Given the description of an element on the screen output the (x, y) to click on. 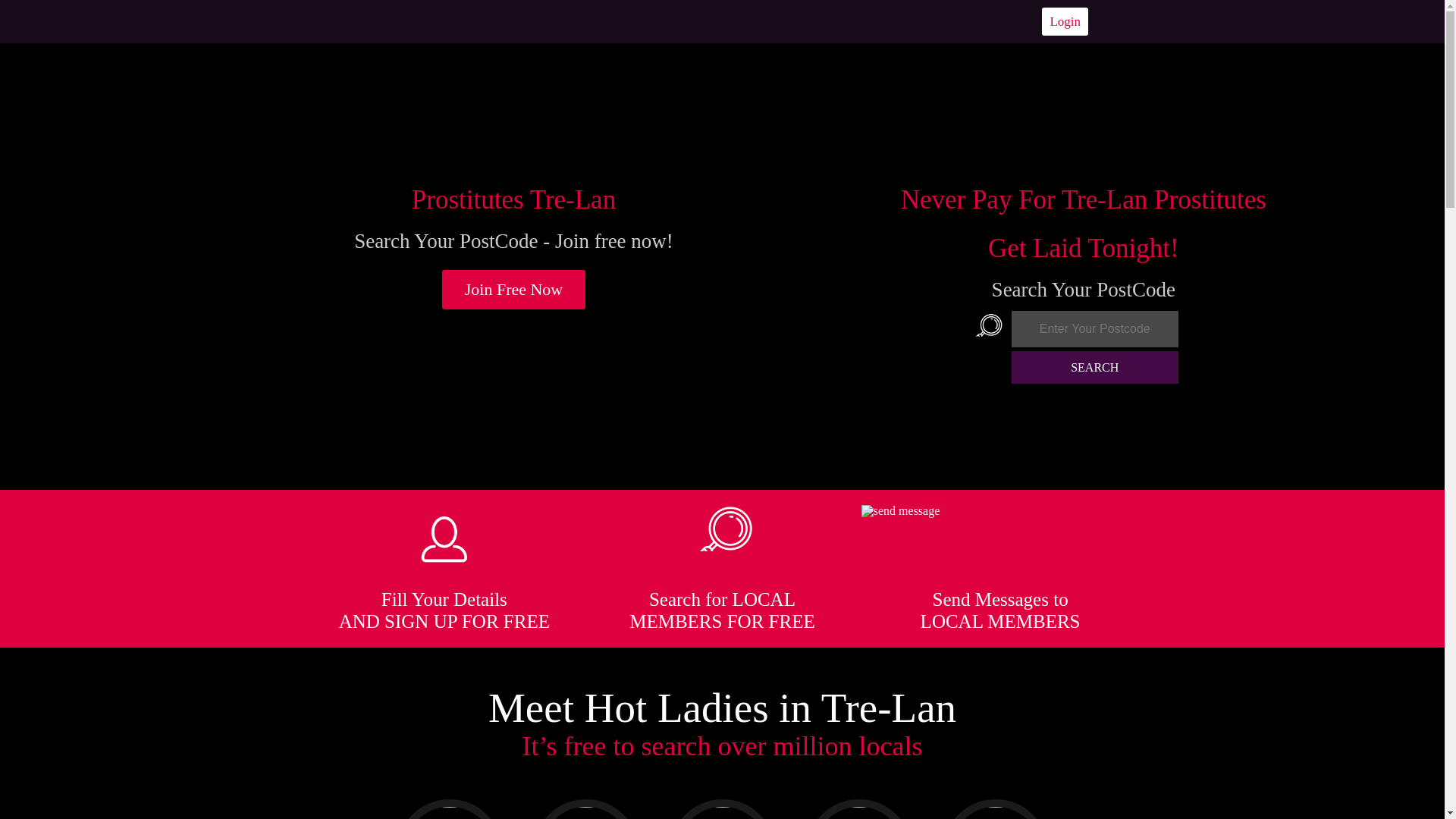
Join Free Now (514, 289)
Login (1064, 21)
SEARCH (1094, 367)
Login (1064, 21)
Join (514, 289)
